Given the description of an element on the screen output the (x, y) to click on. 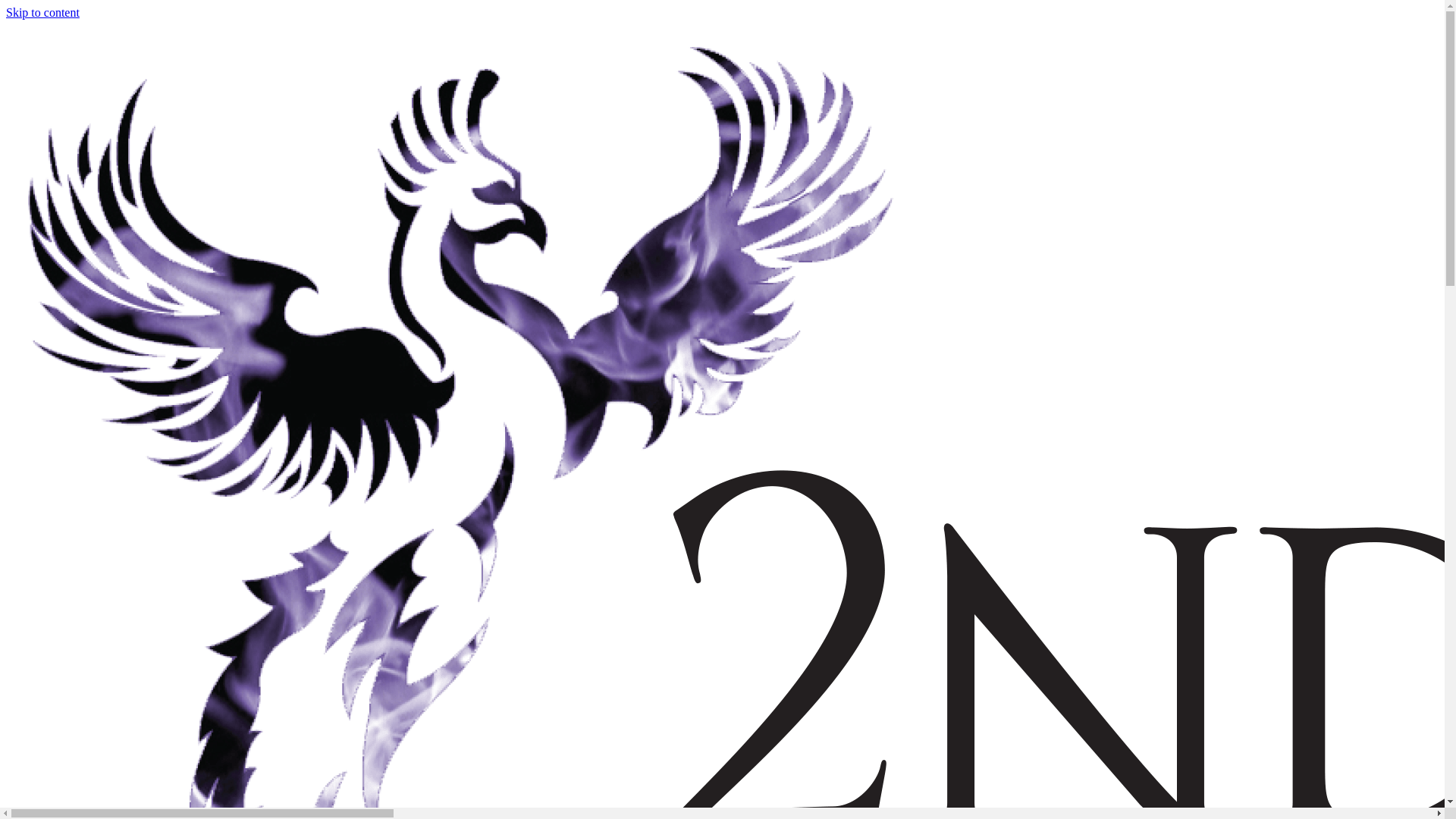
Skip to content Element type: text (42, 12)
